Given the description of an element on the screen output the (x, y) to click on. 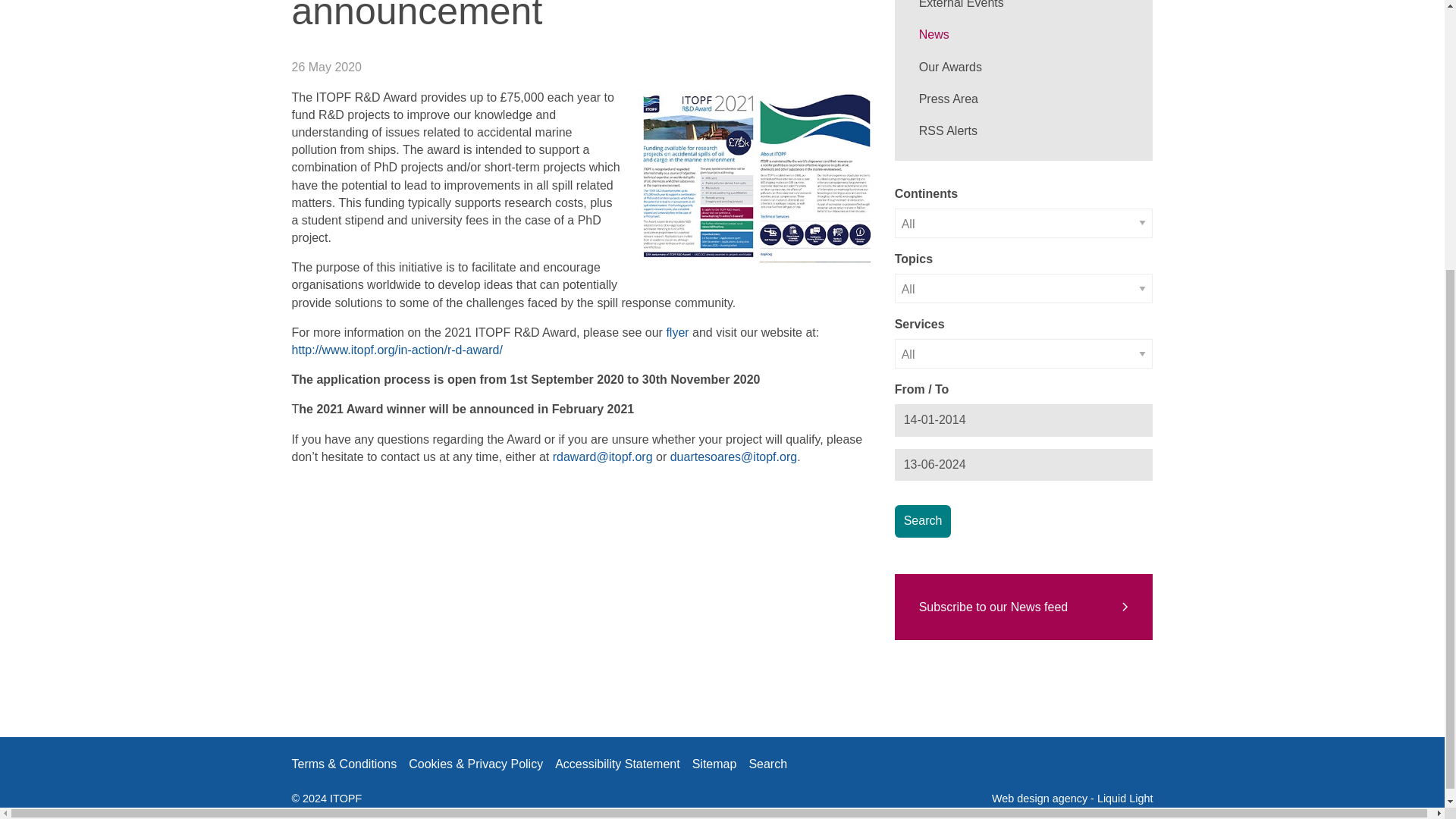
13-06-2024 (1024, 464)
14-01-2014 (1024, 419)
